Given the description of an element on the screen output the (x, y) to click on. 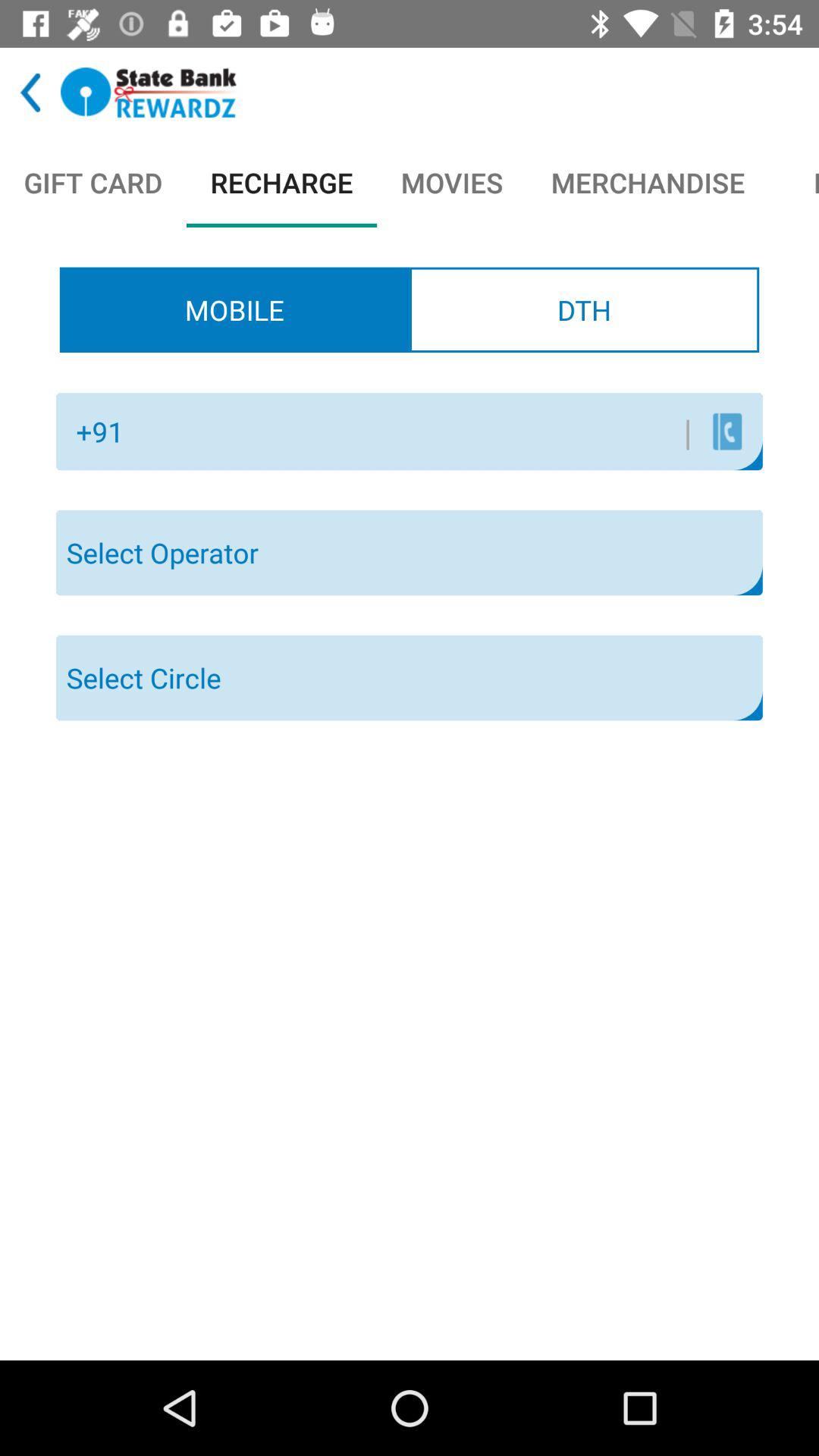
input field phone number (413, 431)
